Given the description of an element on the screen output the (x, y) to click on. 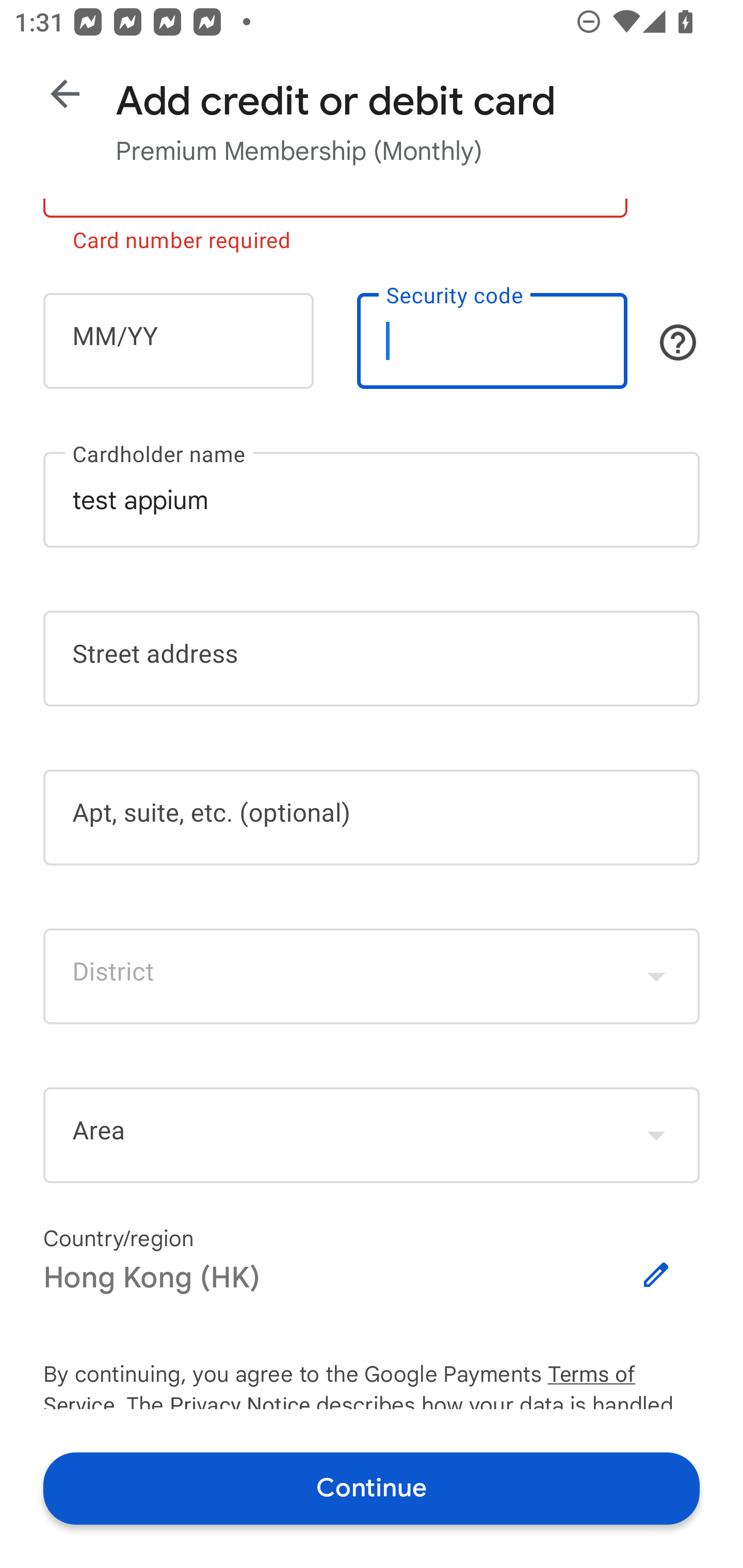
Back (64, 93)
Expiration date, 2 digit month, 2 digit year (178, 340)
Security code (492, 340)
Security code help (677, 342)
test appium (371, 499)
Street address (371, 658)
Apt, suite, etc. (optional) (371, 817)
District (371, 975)
Show dropdown menu (655, 975)
Area (371, 1134)
Show dropdown menu (655, 1135)
country edit button (655, 1275)
Terms of Service (623, 1374)
Continue (371, 1487)
